Given the description of an element on the screen output the (x, y) to click on. 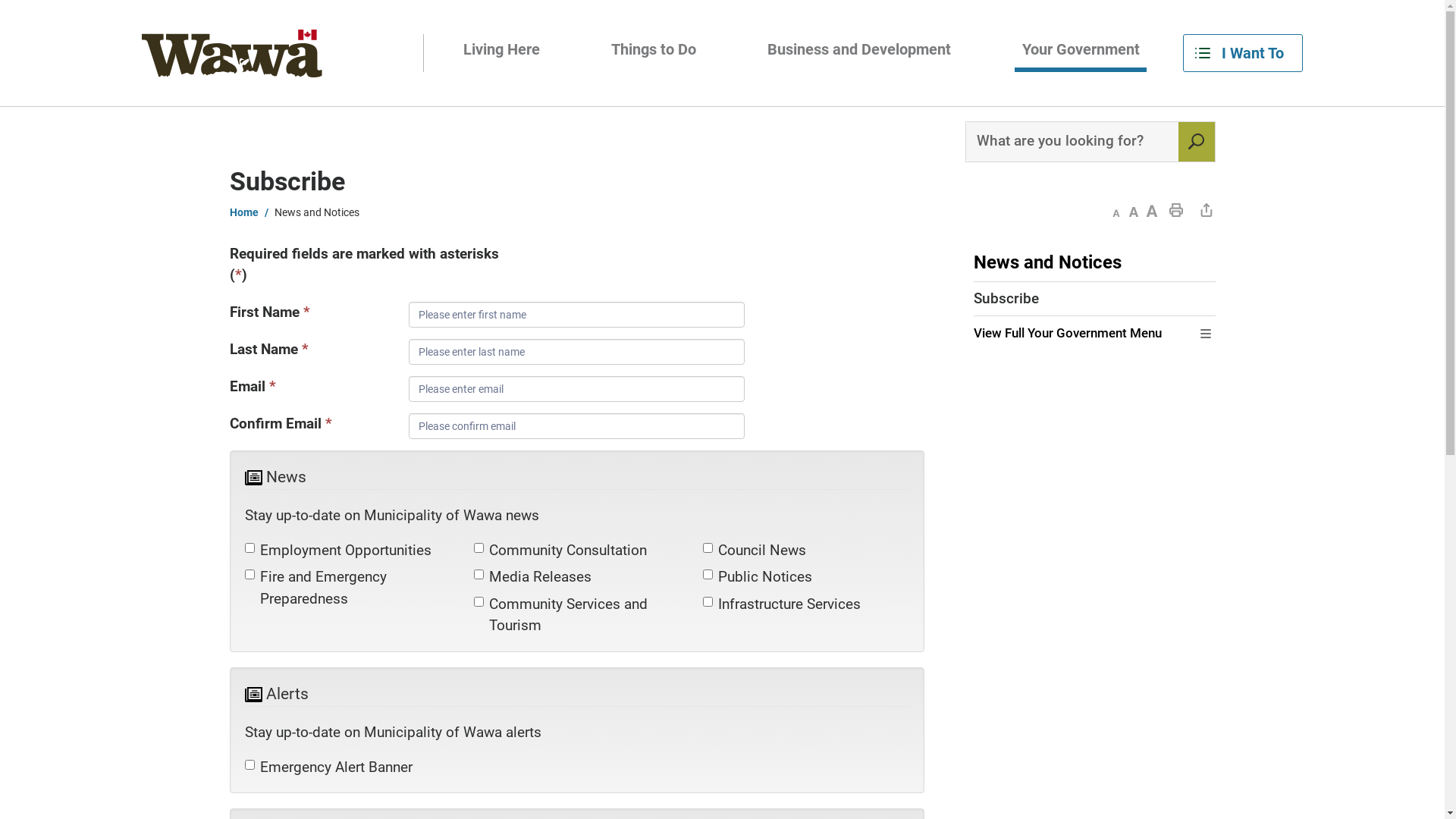
Things to Do Element type: text (652, 53)
View our interior Element type: hover (231, 53)
I Want To Element type: text (1242, 53)
View Full Your Government Menu Element type: text (1084, 333)
Living Here Element type: text (501, 53)
Share This Page Element type: text (1205, 208)
Home Element type: text (251, 212)
Subscribe Element type: text (1094, 298)
Increase text size Element type: text (1150, 208)
Search Element type: text (1196, 141)
Default text size Element type: text (1132, 208)
Print This Page Element type: text (1175, 208)
News and Notices Element type: text (1084, 262)
Business and Development Element type: text (858, 53)
Your Government Element type: text (1080, 53)
Skip to Content Element type: text (0, 0)
Decrease text size Element type: text (1114, 208)
